Given the description of an element on the screen output the (x, y) to click on. 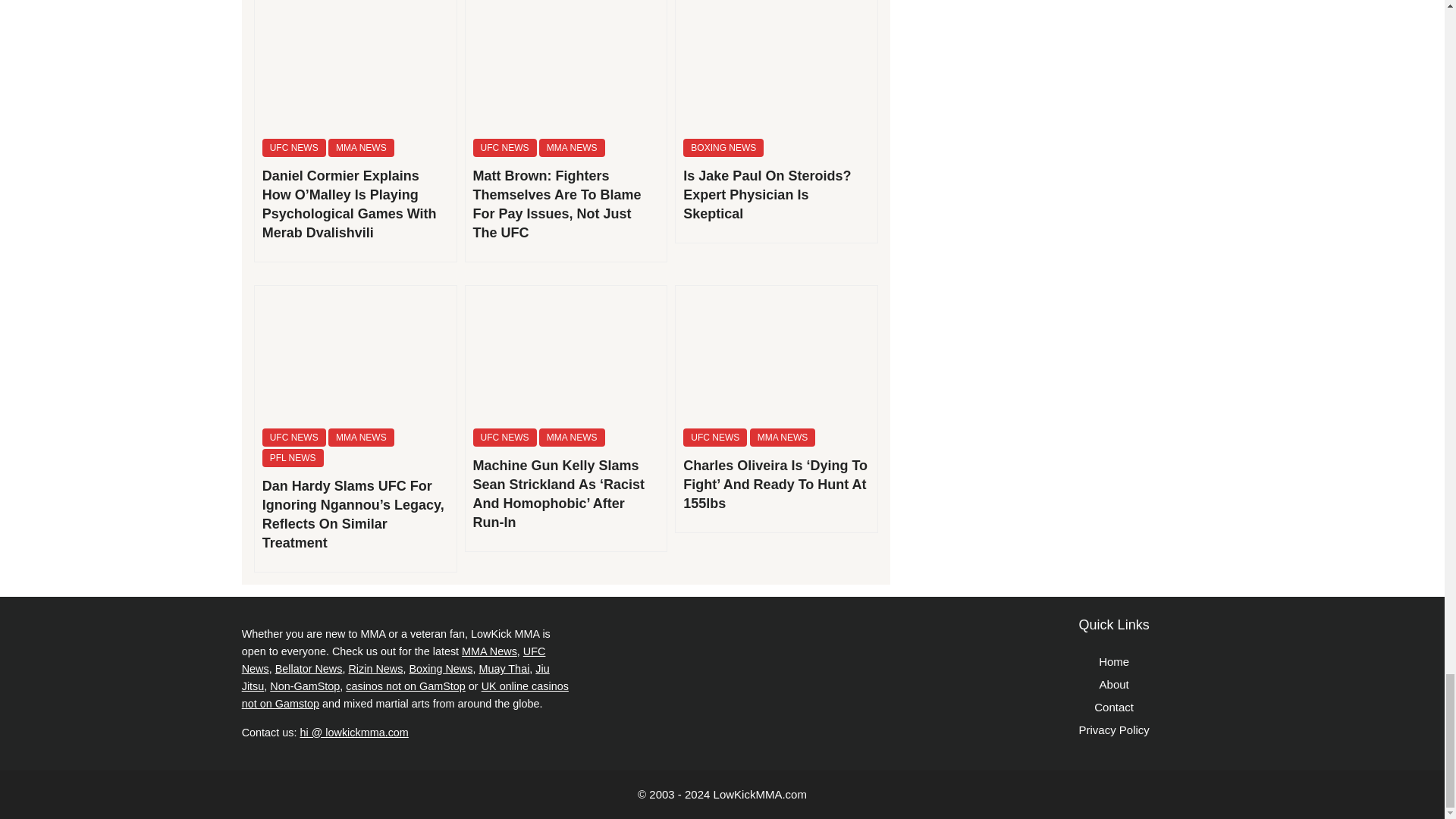
Is Jake Paul on Steroids? Expert Physician is Skeptical 4 (776, 65)
